Given the description of an element on the screen output the (x, y) to click on. 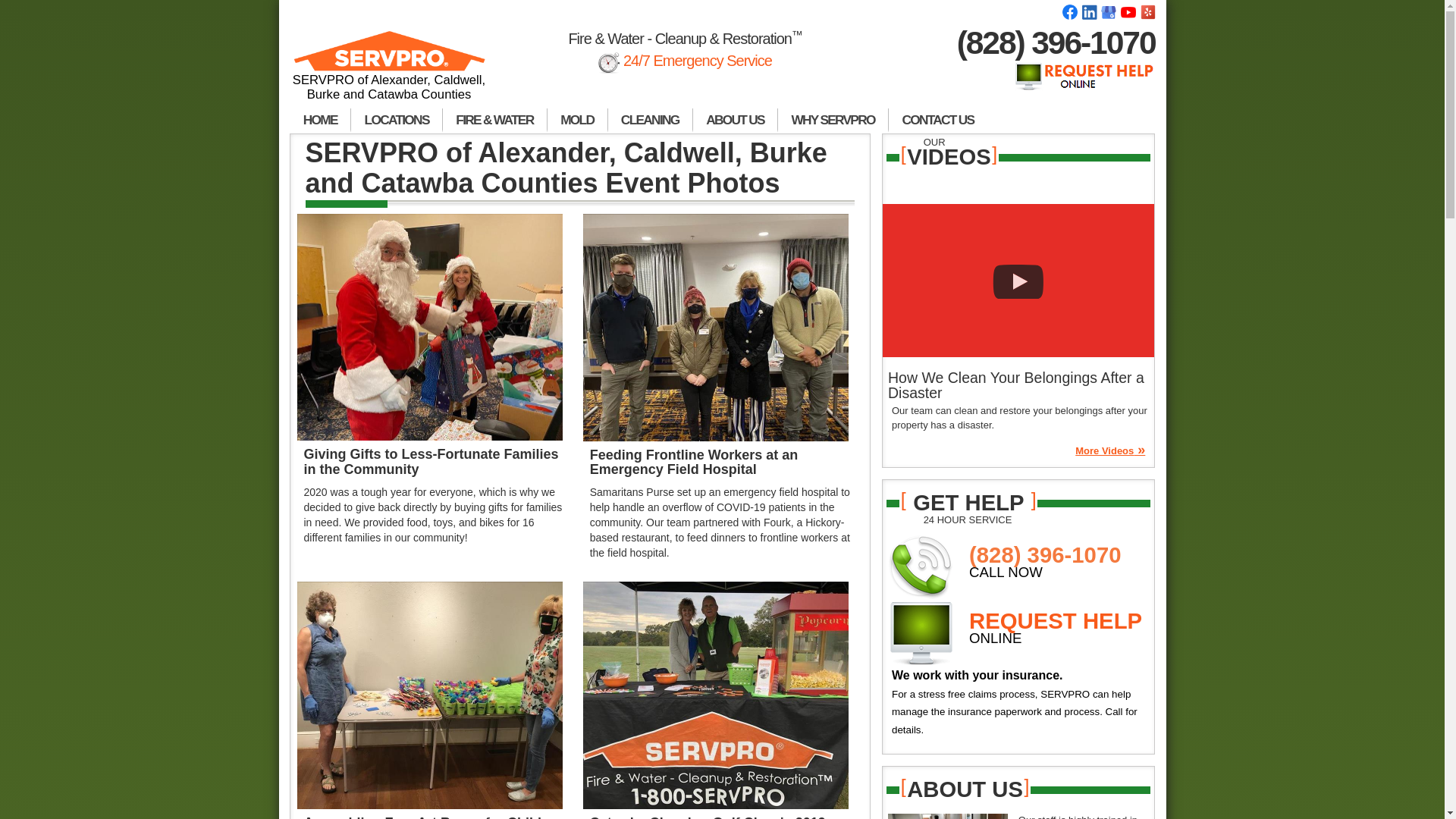
HOME (319, 120)
MOLD (577, 120)
LOCATIONS (396, 120)
CLEANING (650, 120)
SERVPRO of Alexander, Caldwell, Burke and Catawba Counties (389, 72)
